Given the description of an element on the screen output the (x, y) to click on. 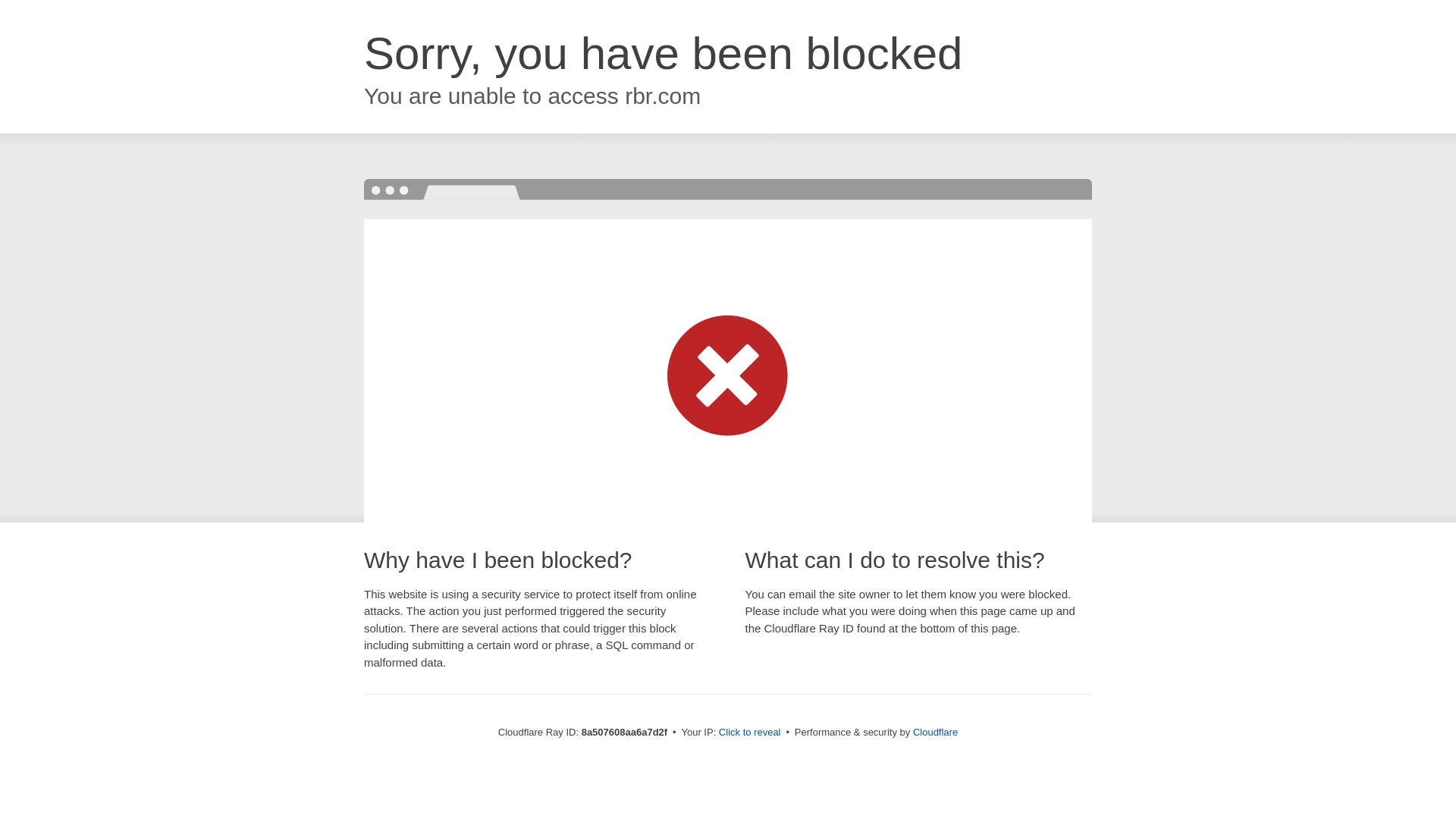
Cloudflare (935, 731)
Click to reveal (749, 732)
